Given the description of an element on the screen output the (x, y) to click on. 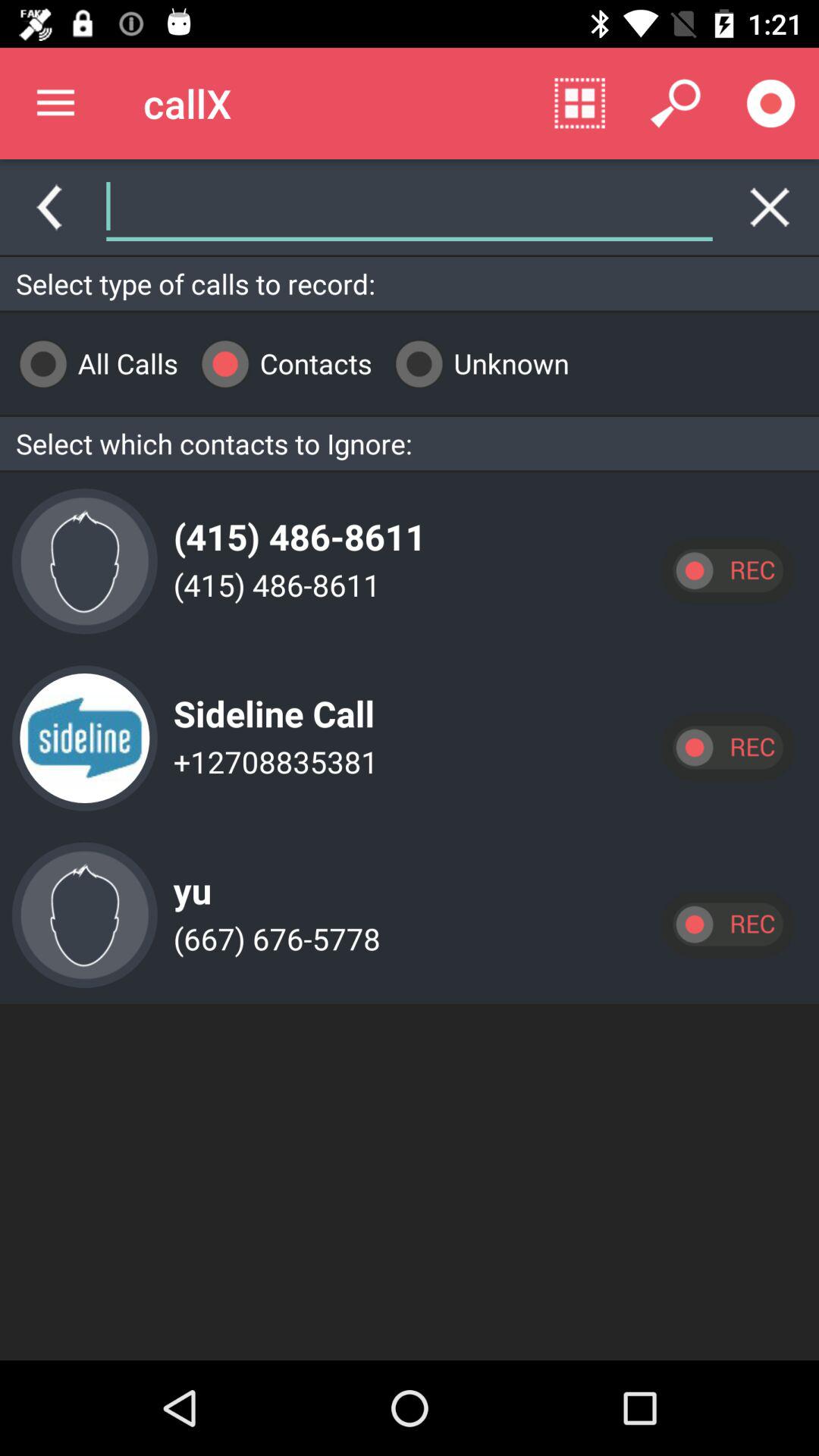
choose the icon above select type of item (362, 206)
